Given the description of an element on the screen output the (x, y) to click on. 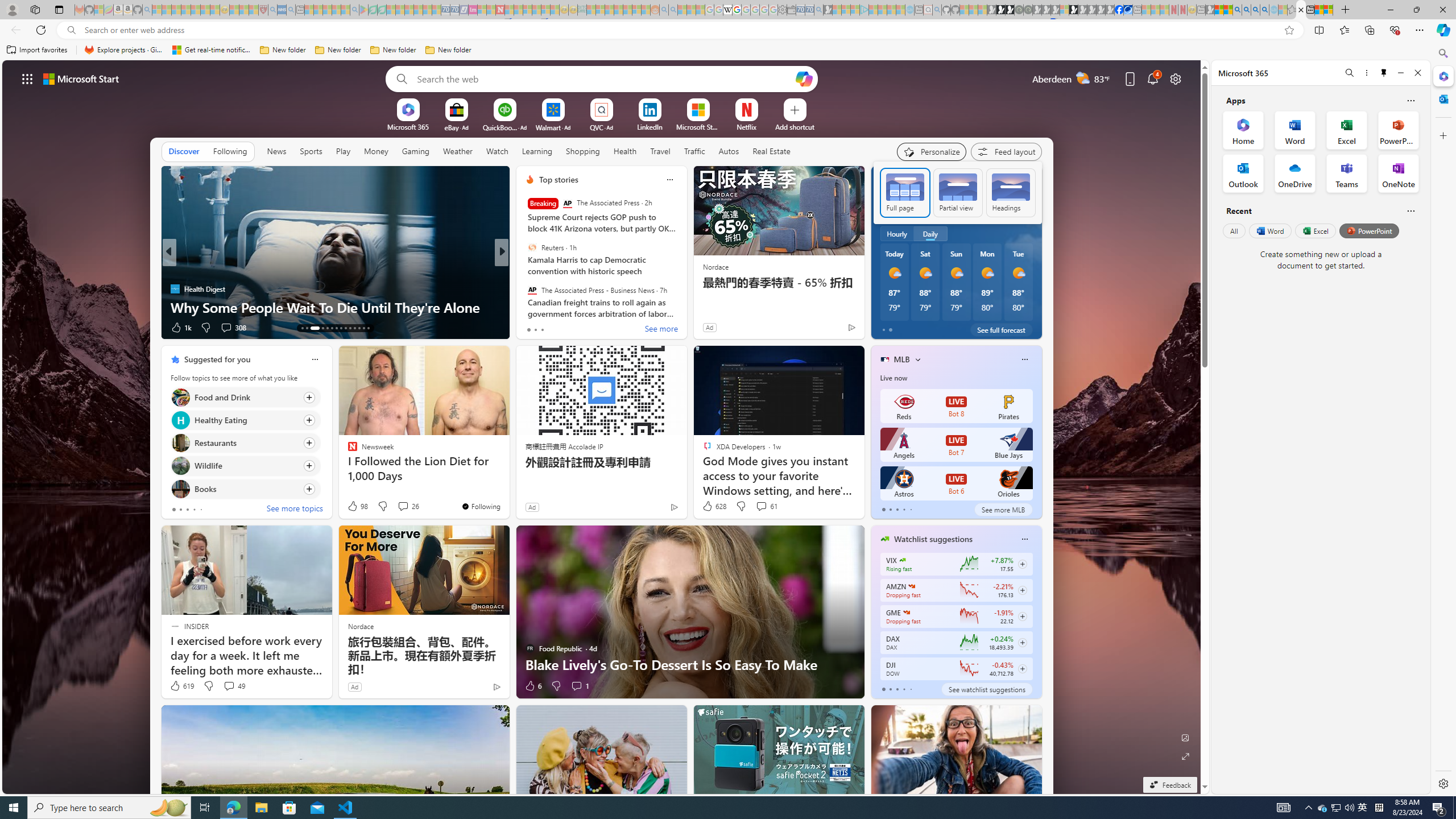
View comments 67 Comment (581, 327)
View comments 61 Comment (761, 505)
684 Like (532, 327)
See full forecast (1000, 329)
Partial view (957, 192)
Word Office App (1295, 129)
View comments 81 Comment (585, 327)
To get missing image descriptions, open the context menu. (407, 109)
Ad Choice (496, 686)
Outlook Office App (1243, 172)
